Given the description of an element on the screen output the (x, y) to click on. 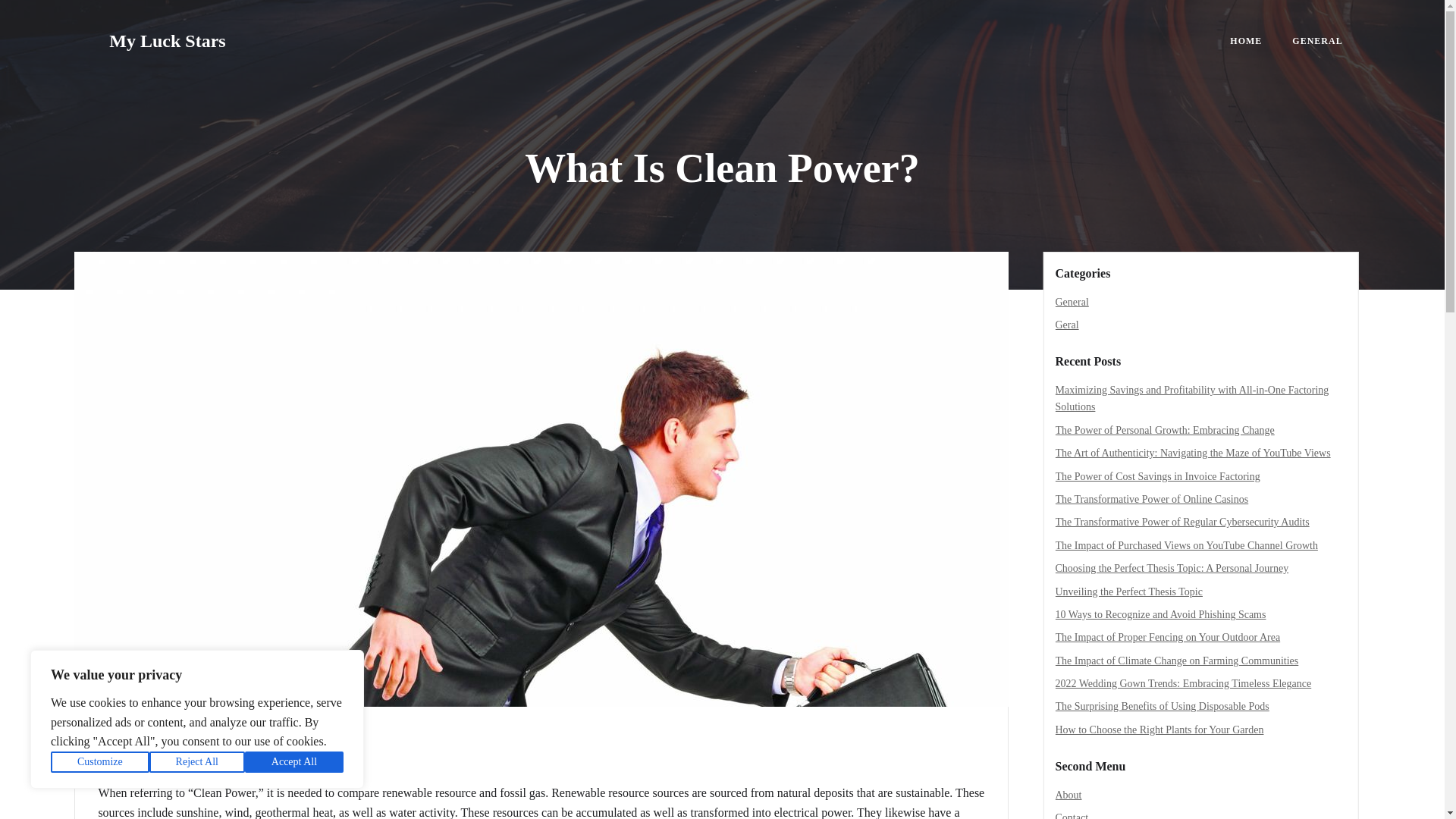
Customize (99, 762)
Accept All (293, 762)
admin (119, 760)
My Luck Stars (167, 40)
Reject All (196, 762)
General (138, 740)
HOME (1246, 40)
General (1072, 301)
The Power of Personal Growth: Embracing Change (1165, 430)
GENERAL (1317, 40)
The Power of Cost Savings in Invoice Factoring (1157, 476)
Geral (1066, 324)
The Transformative Power of Online Casinos (1152, 499)
